Given the description of an element on the screen output the (x, y) to click on. 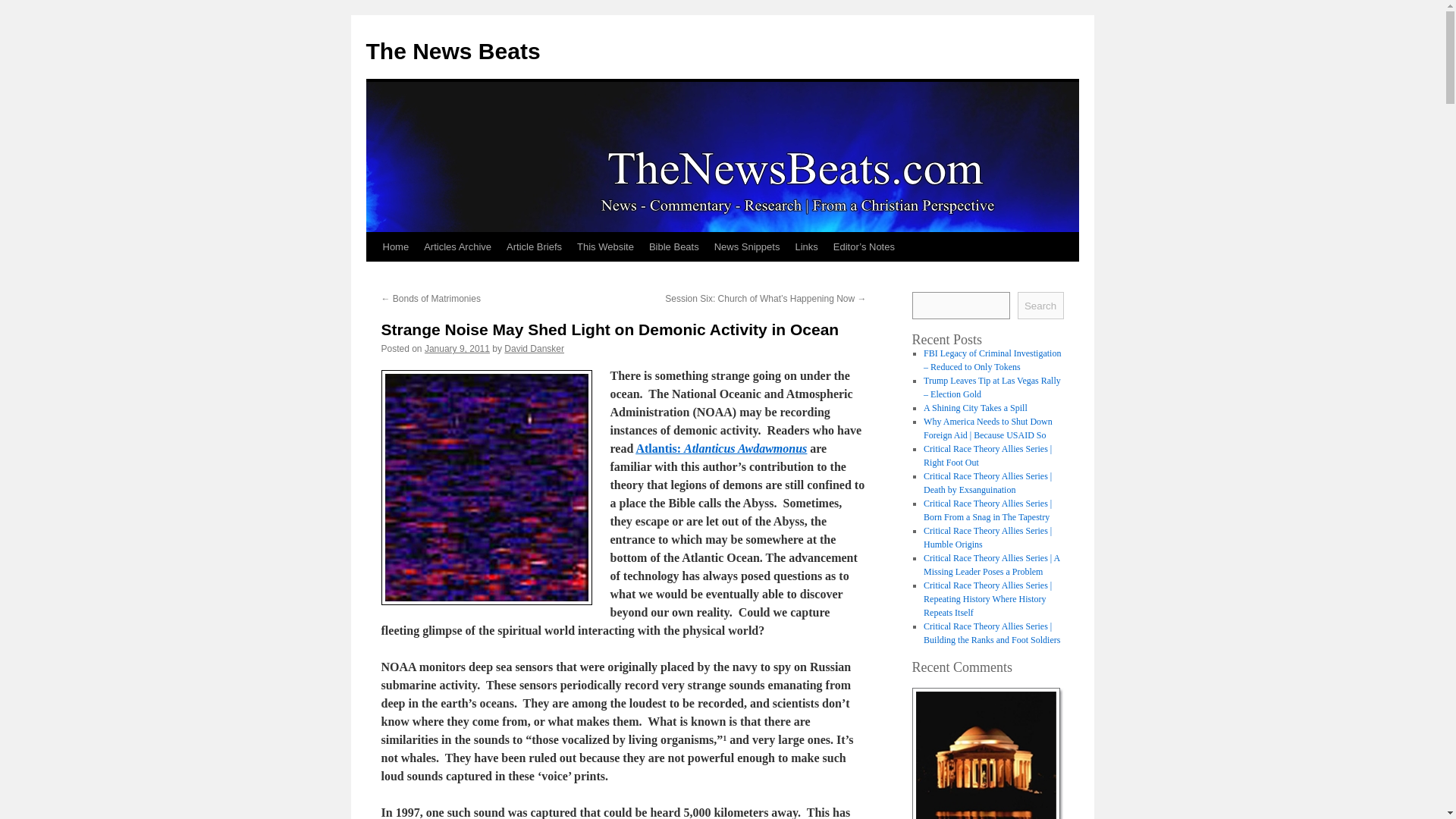
January 9, 2011 (457, 348)
Bible Beats (674, 246)
Atlantis: (659, 448)
David Dansker (533, 348)
Atlanticus Awdawmonus (745, 448)
Home (395, 246)
The News Beats (452, 50)
View all posts by David Dansker (533, 348)
Demon Voice (485, 487)
11:27 am (457, 348)
News Snippets (746, 246)
Article Briefs (534, 246)
This Website (605, 246)
Articles Archive (457, 246)
Links (806, 246)
